Given the description of an element on the screen output the (x, y) to click on. 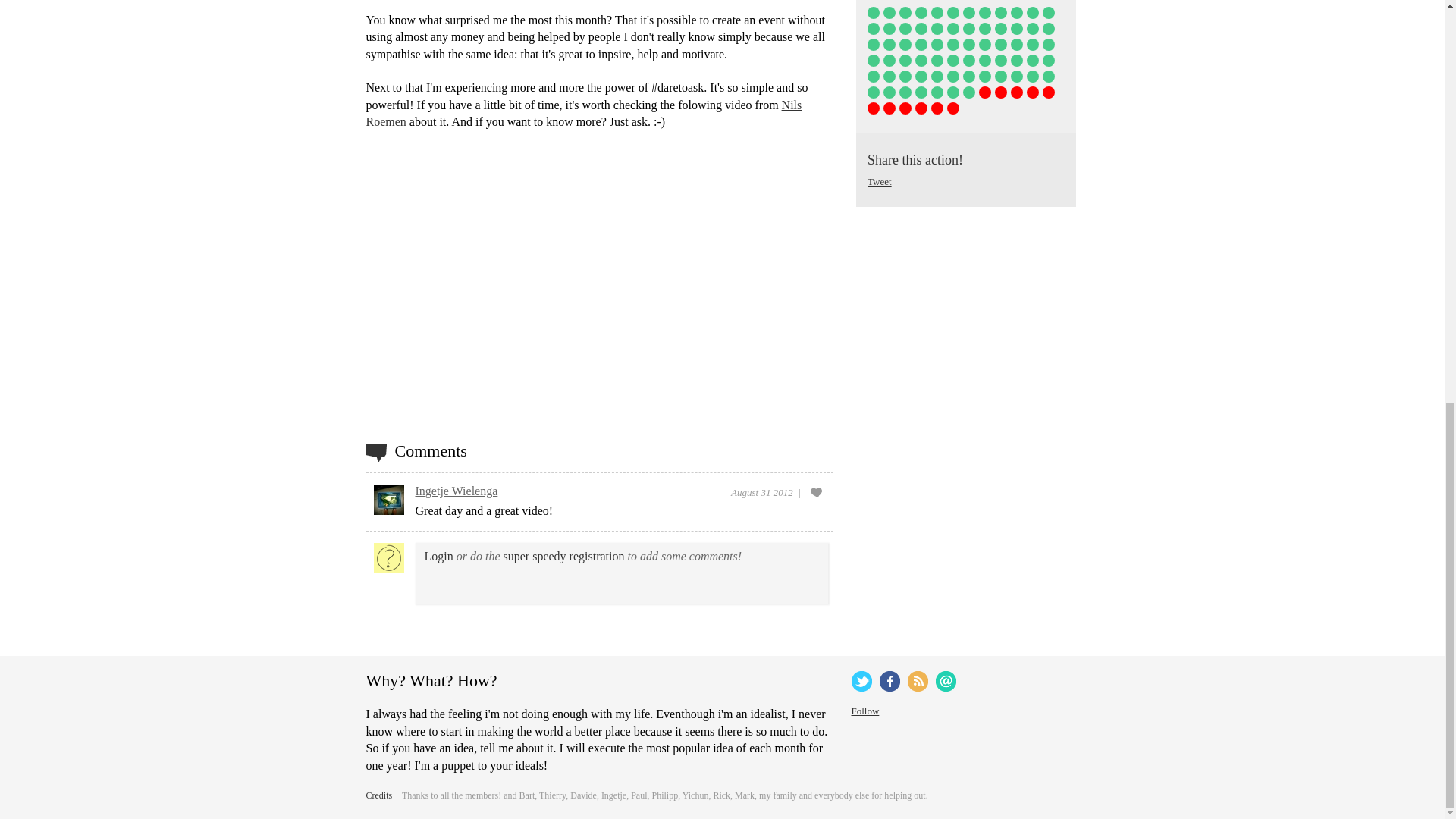
Anonymous (905, 28)
Login to add love (815, 491)
Anonymous (921, 28)
Login (438, 555)
Anonymous (937, 12)
Comments (429, 450)
Nils Roemen (583, 112)
Anonymous (984, 12)
Anonymous (1048, 12)
Anonymous (889, 12)
Ingetje Wielenga (455, 490)
Anonymous (873, 12)
Anonymous (953, 12)
Anonymous (873, 28)
Anonymous (1032, 12)
